Given the description of an element on the screen output the (x, y) to click on. 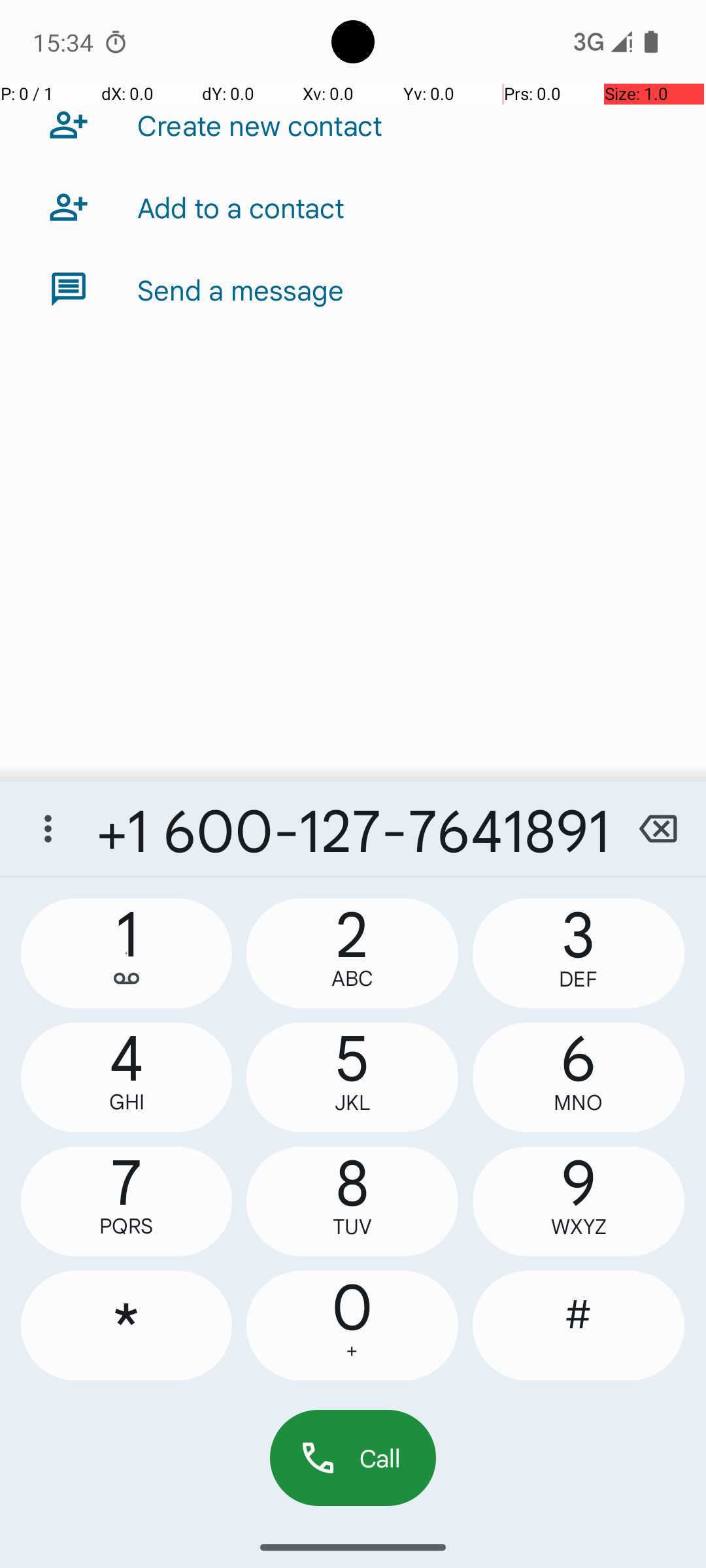
+1 600-127-7641891 Element type: android.widget.EditText (352, 828)
